Given the description of an element on the screen output the (x, y) to click on. 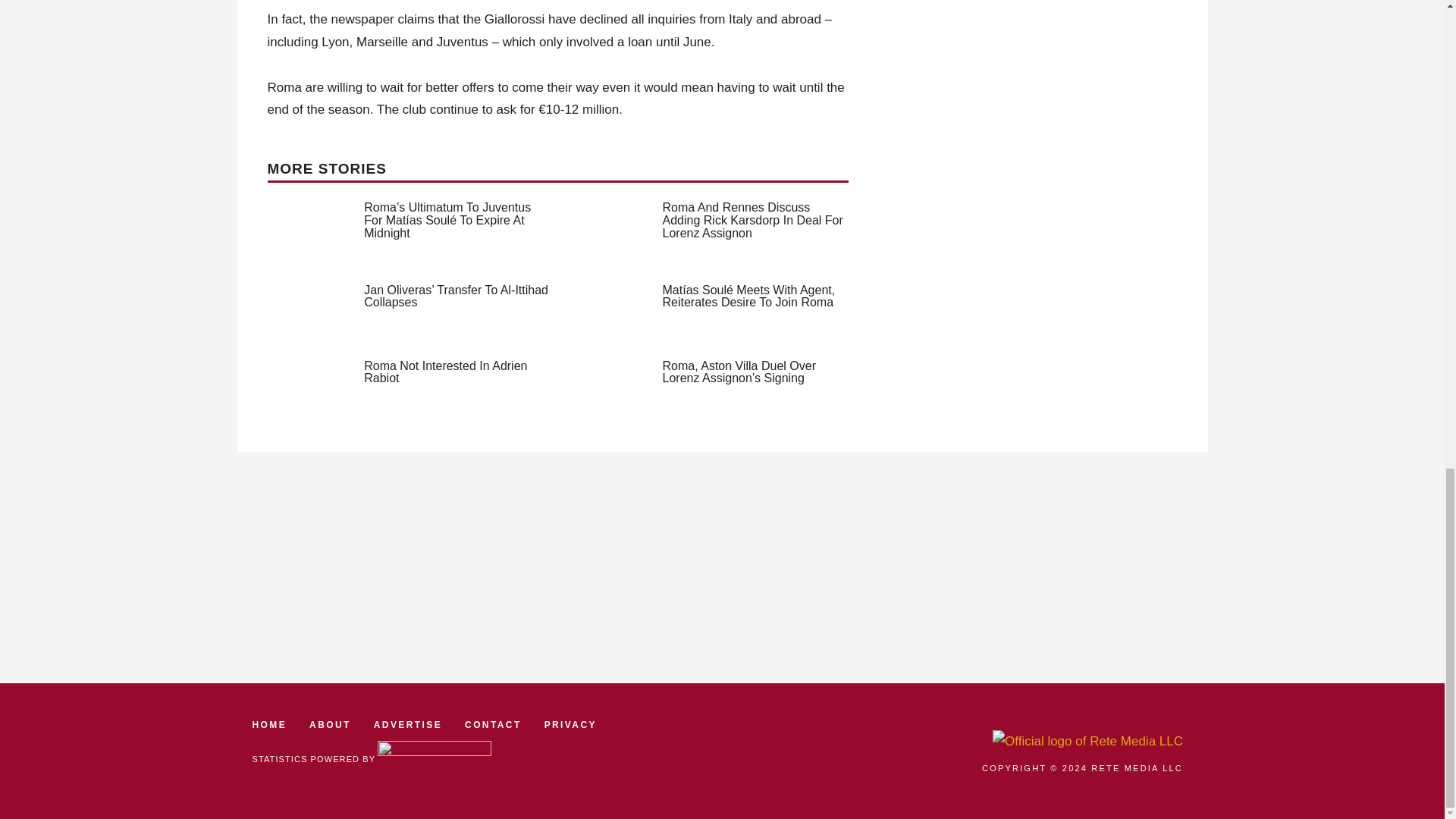
HOME (268, 725)
CONTACT (492, 725)
ABOUT (329, 725)
Roma Not Interested In Adrien Rabiot (445, 371)
ADVERTISE (408, 725)
PRIVACY (570, 725)
